Given the description of an element on the screen output the (x, y) to click on. 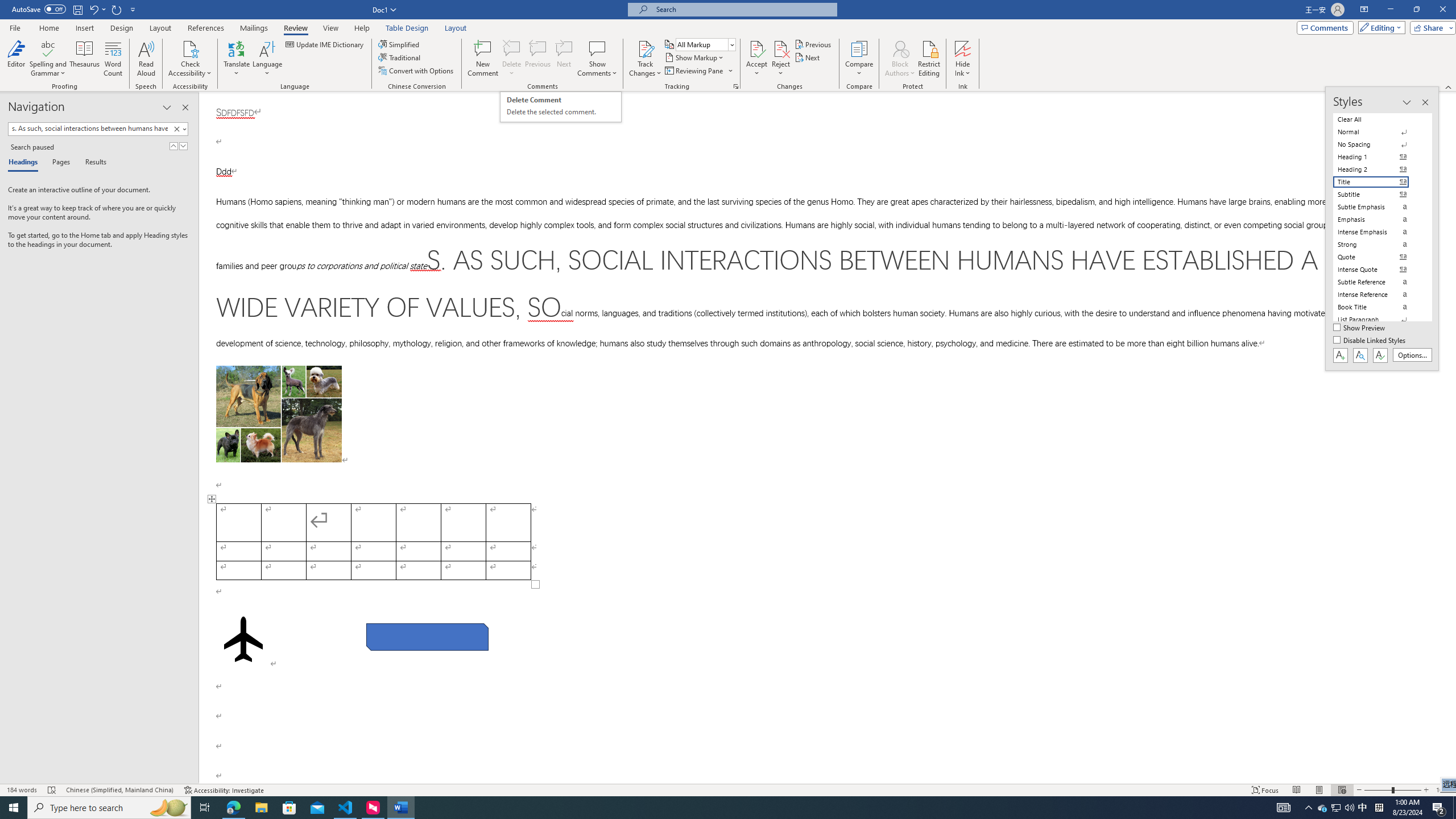
Undo Style (96, 9)
Intense Quote (1377, 269)
Zoom (1392, 790)
Compare (859, 58)
Options... (1412, 354)
Repeat Style (117, 9)
Spelling and Grammar (48, 48)
Reject and Move to Next (780, 48)
Strong (1377, 244)
Track Changes (644, 58)
Language Chinese (Simplified, Mainland China) (119, 790)
Task Pane Options (167, 107)
Heading 1 (1377, 156)
